Given the description of an element on the screen output the (x, y) to click on. 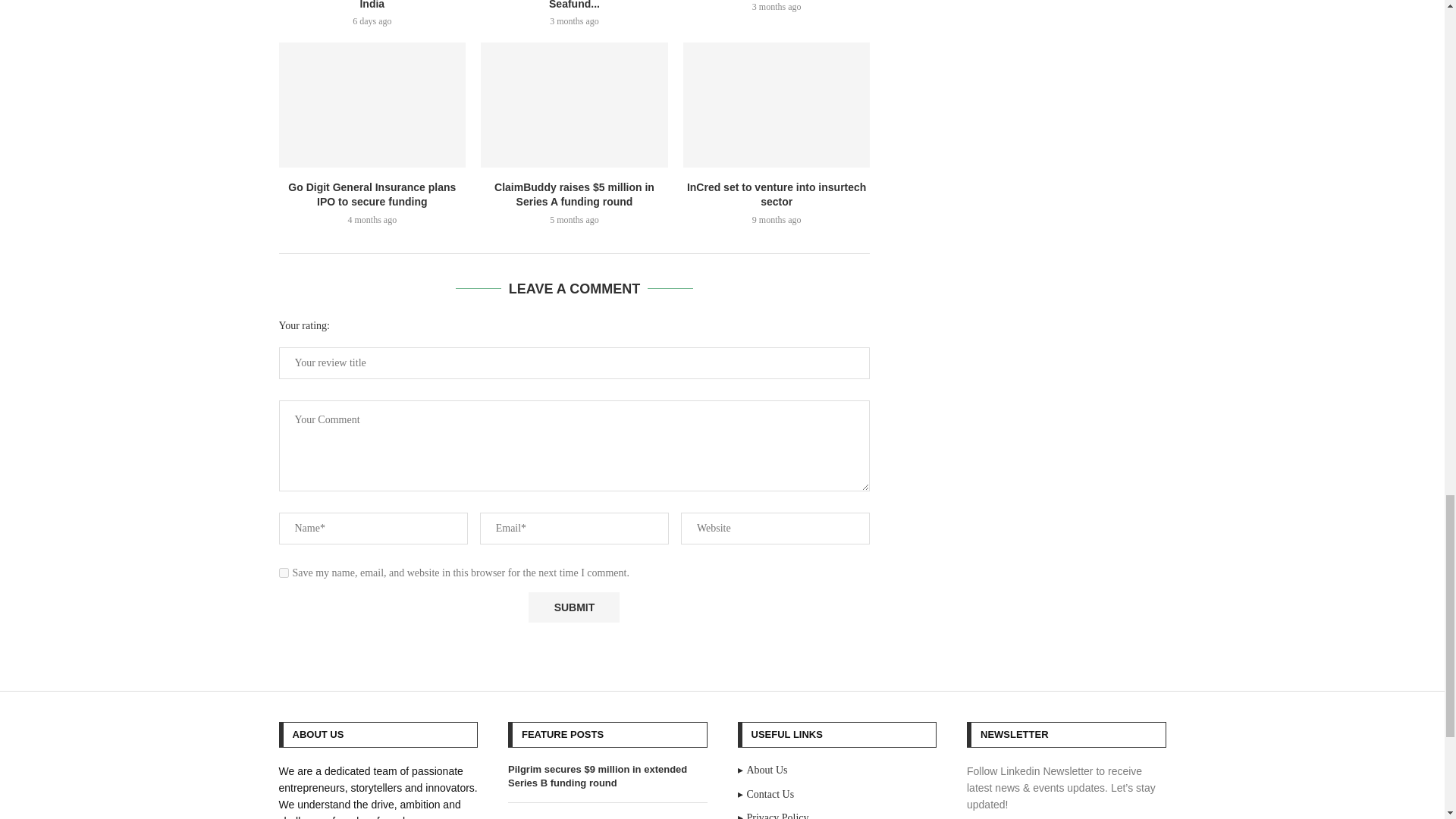
yes (283, 573)
InCred set to venture into insurtech sector (776, 104)
Go Digit General Insurance plans IPO to secure funding (372, 104)
Submit (574, 606)
